Given the description of an element on the screen output the (x, y) to click on. 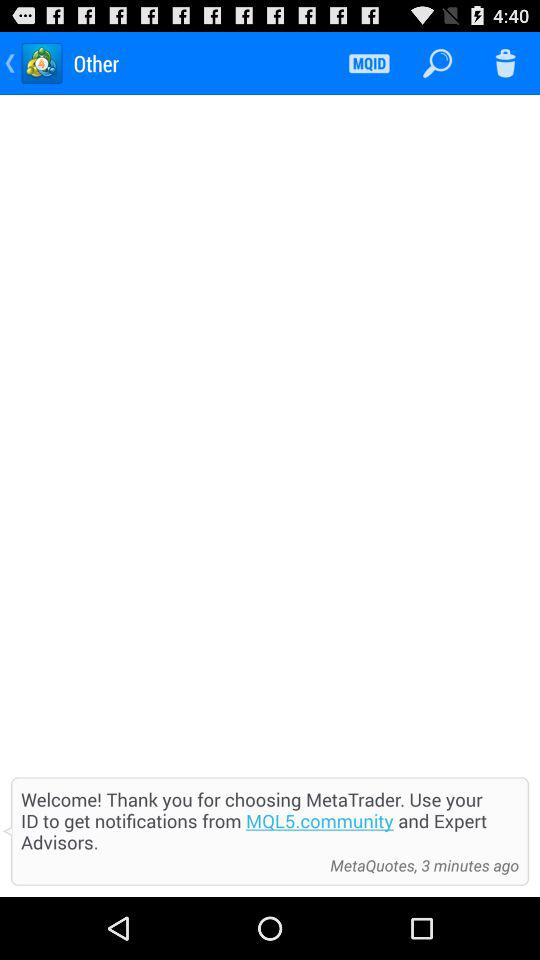
turn off the icon at the bottom left corner (170, 865)
